Given the description of an element on the screen output the (x, y) to click on. 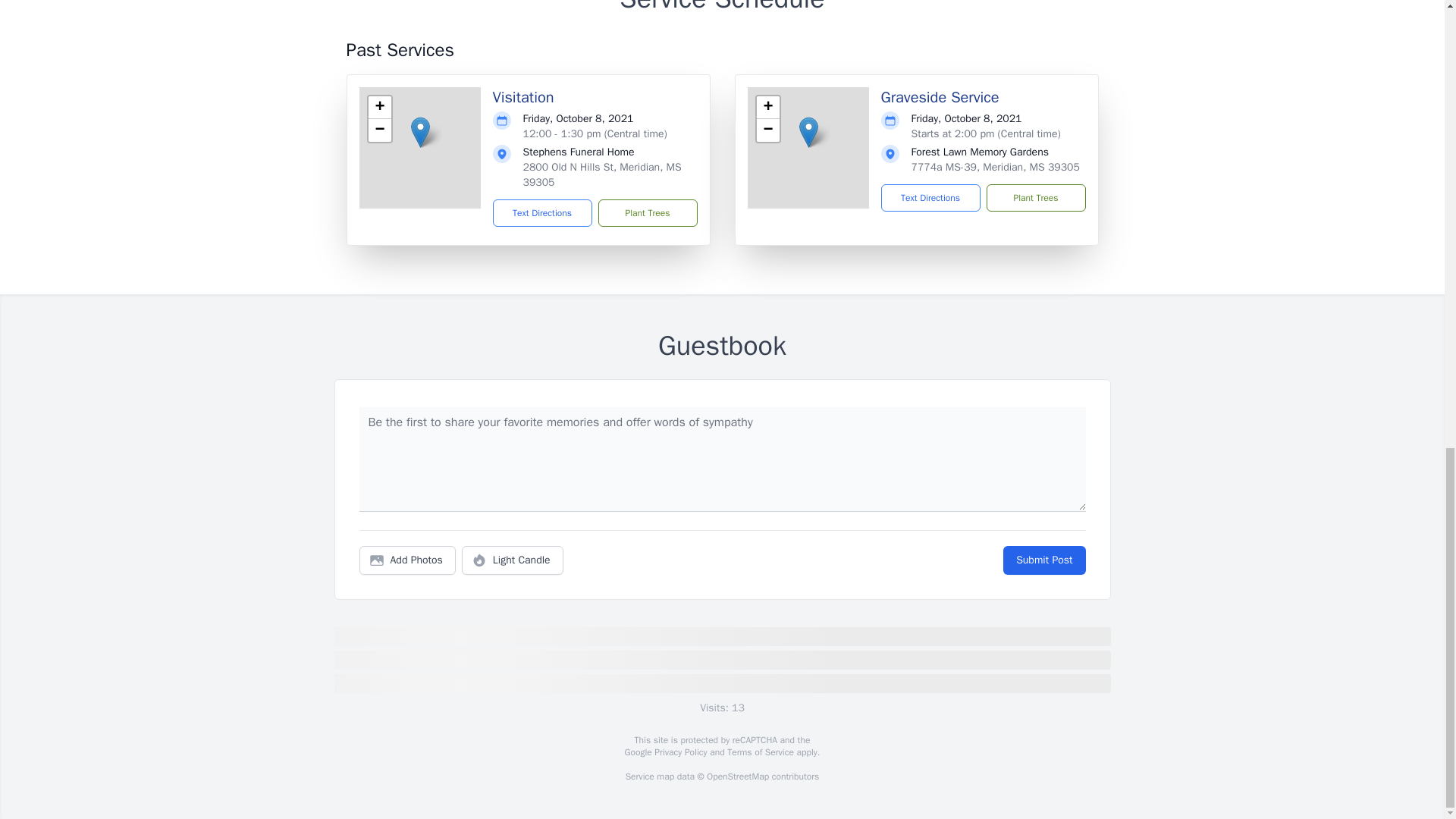
Light Candle (512, 560)
Submit Post (1043, 560)
Text Directions (929, 197)
Zoom in (379, 107)
Plant Trees (1034, 197)
Zoom in (767, 107)
Plant Trees (646, 212)
Terms of Service (759, 752)
Zoom out (767, 129)
Privacy Policy (679, 752)
